Given the description of an element on the screen output the (x, y) to click on. 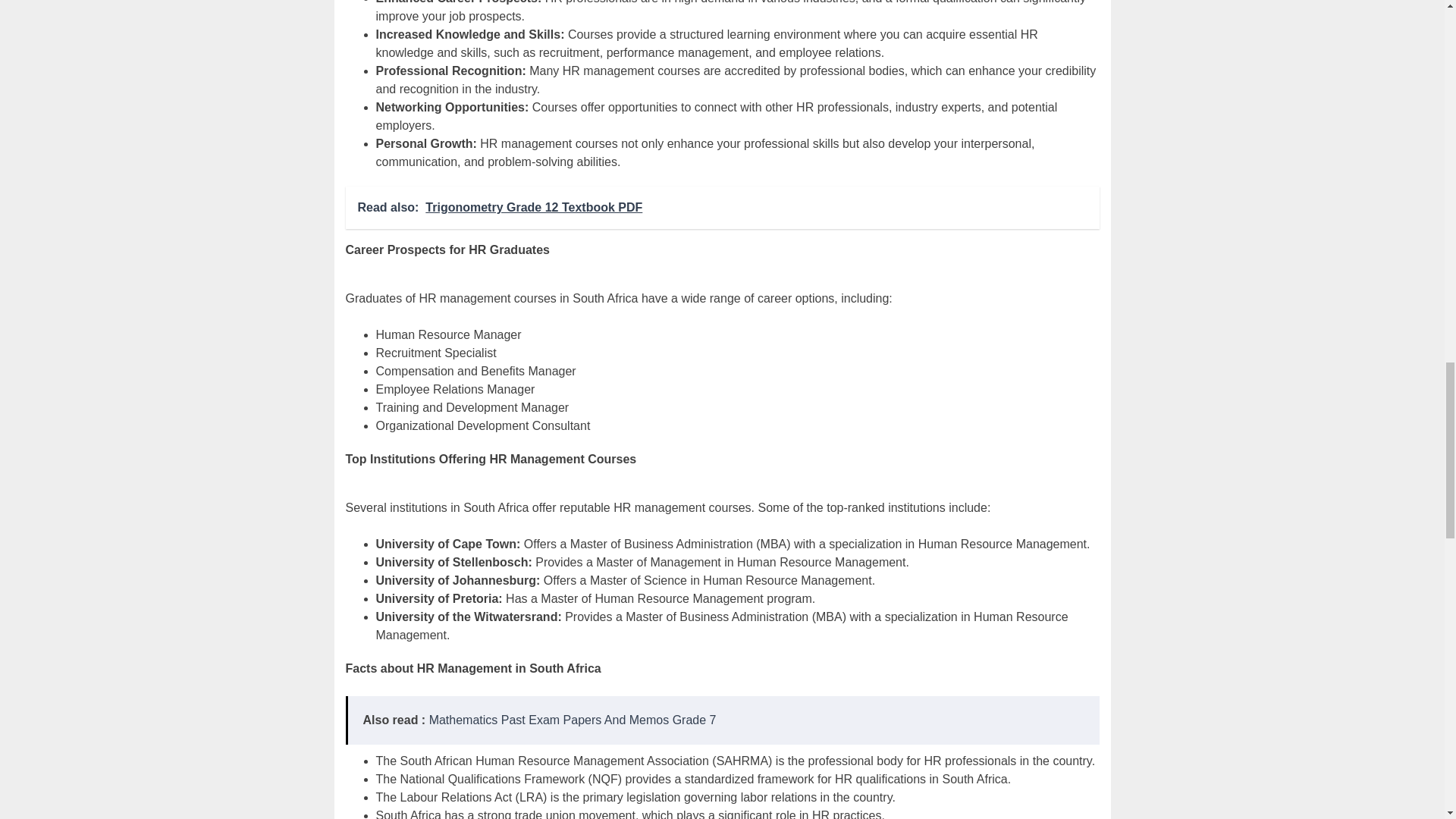
Read also:  Trigonometry Grade 12 Textbook PDF (722, 207)
Mathematics Past Exam Papers And Memos Grade 7 (572, 719)
